Given the description of an element on the screen output the (x, y) to click on. 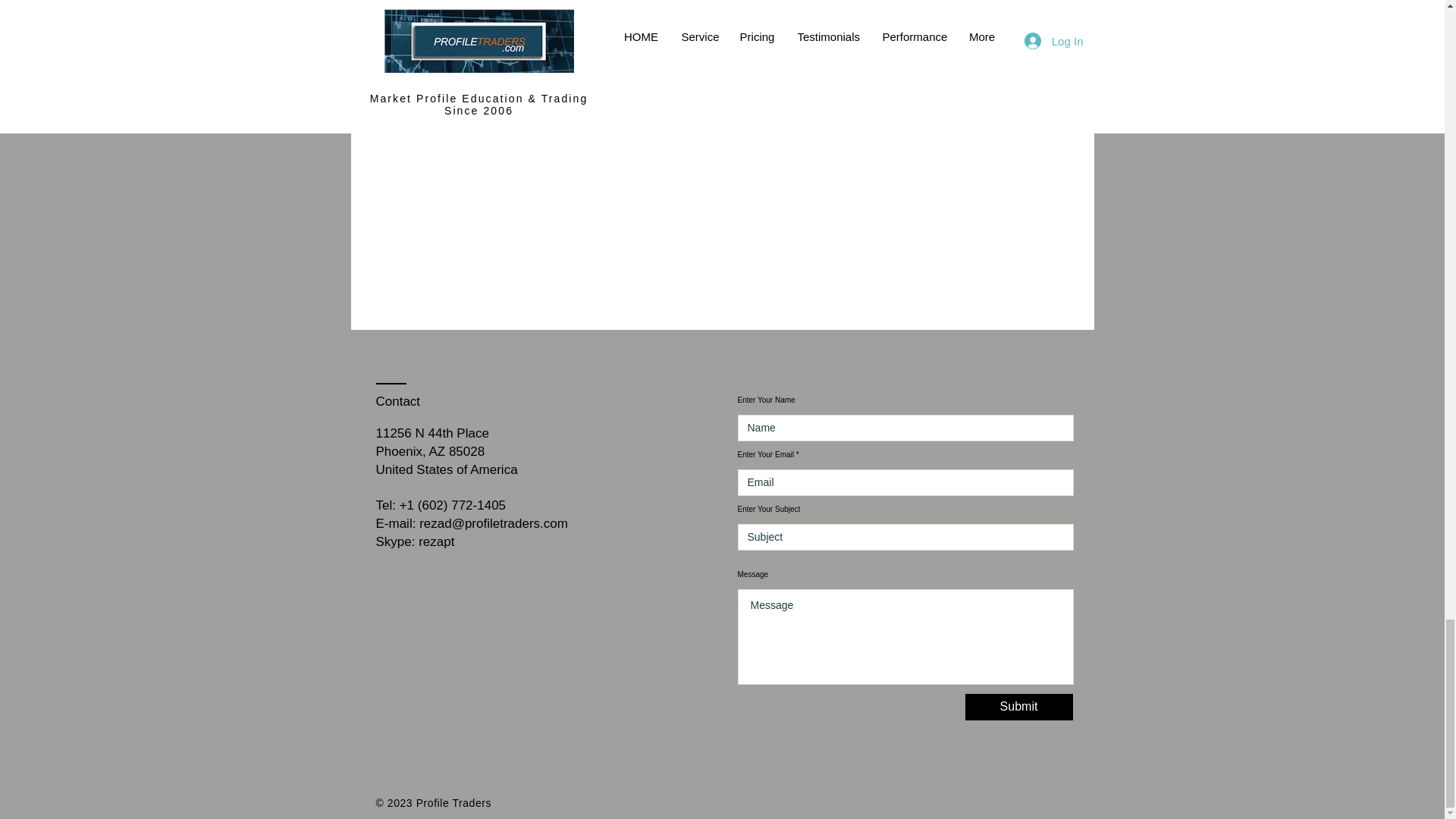
Submit (1017, 706)
